Given the description of an element on the screen output the (x, y) to click on. 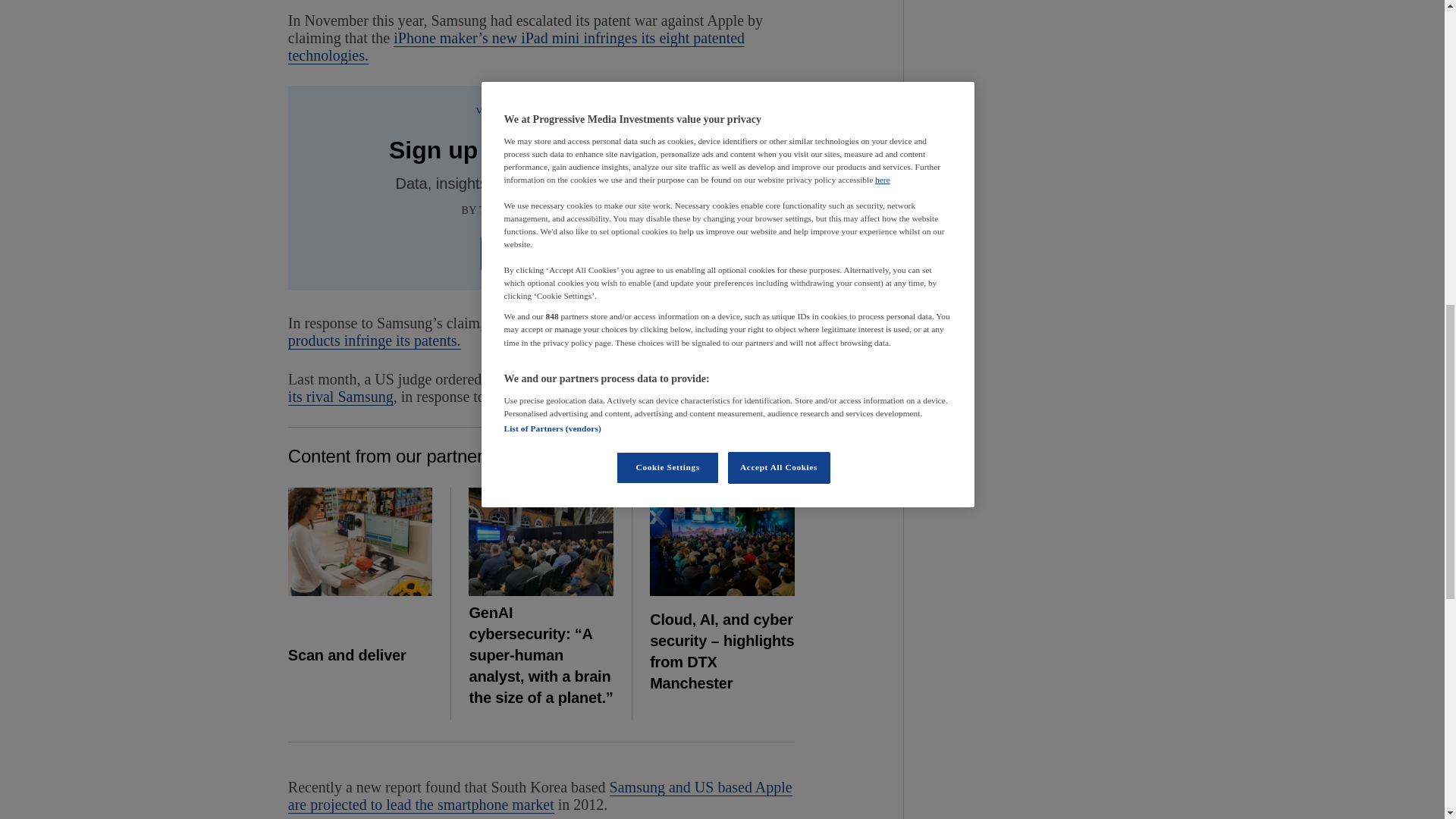
Scan and deliver (360, 541)
